Given the description of an element on the screen output the (x, y) to click on. 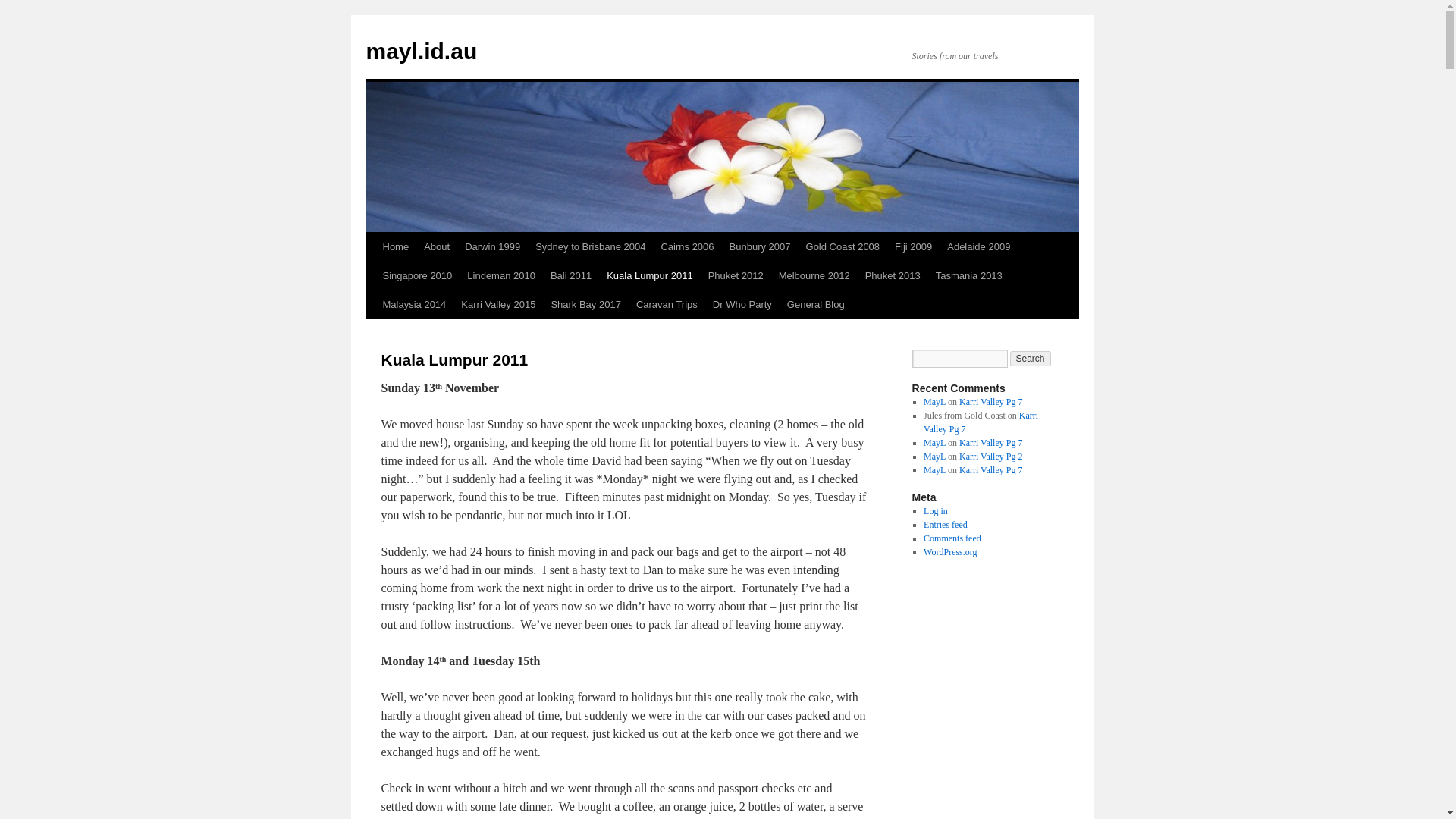
Gold Coast 2008 (842, 246)
Home (395, 246)
Fiji 2009 (912, 246)
Cairns 2006 (686, 246)
About (436, 246)
Sydney to Brisbane 2004 (589, 246)
Darwin 1999 (492, 246)
Search (1030, 358)
Bunbury 2007 (759, 246)
mayl.id.au (421, 50)
